Given the description of an element on the screen output the (x, y) to click on. 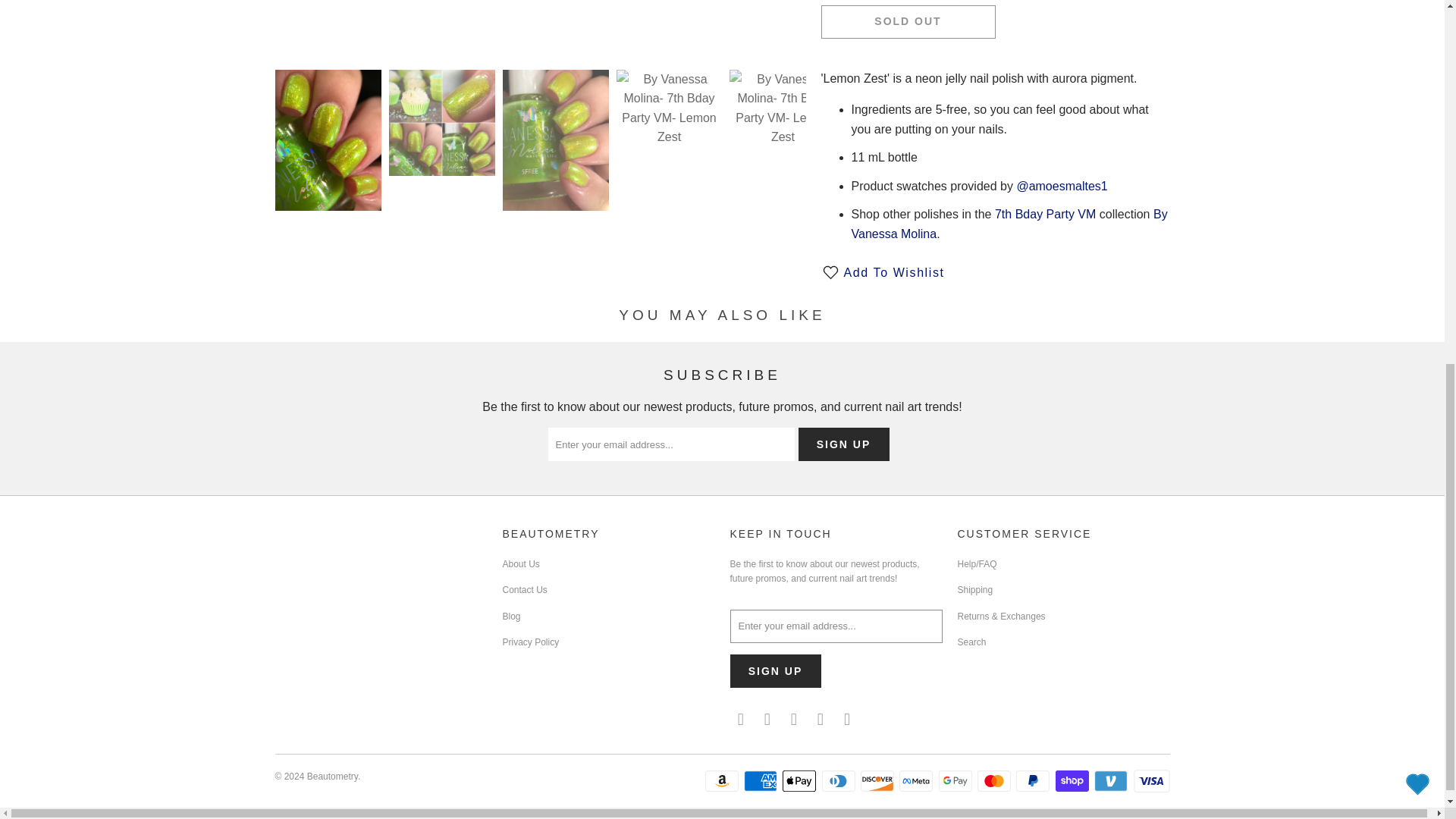
Venmo (1112, 780)
Google Pay (957, 780)
Apple Pay (800, 780)
by vanessa molina nail polish (1008, 224)
Sign Up (775, 671)
instagram nail swatcher amo esmaltes (1061, 185)
Visa (1150, 780)
Diners Club (840, 780)
Beautometry on YouTube (794, 719)
Meta Pay (917, 780)
Beautometry on Pinterest (820, 719)
seventh birthday party vm nail polish (1045, 214)
Amazon (722, 780)
Beautometry on Twitter (740, 719)
Sign Up (842, 444)
